Given the description of an element on the screen output the (x, y) to click on. 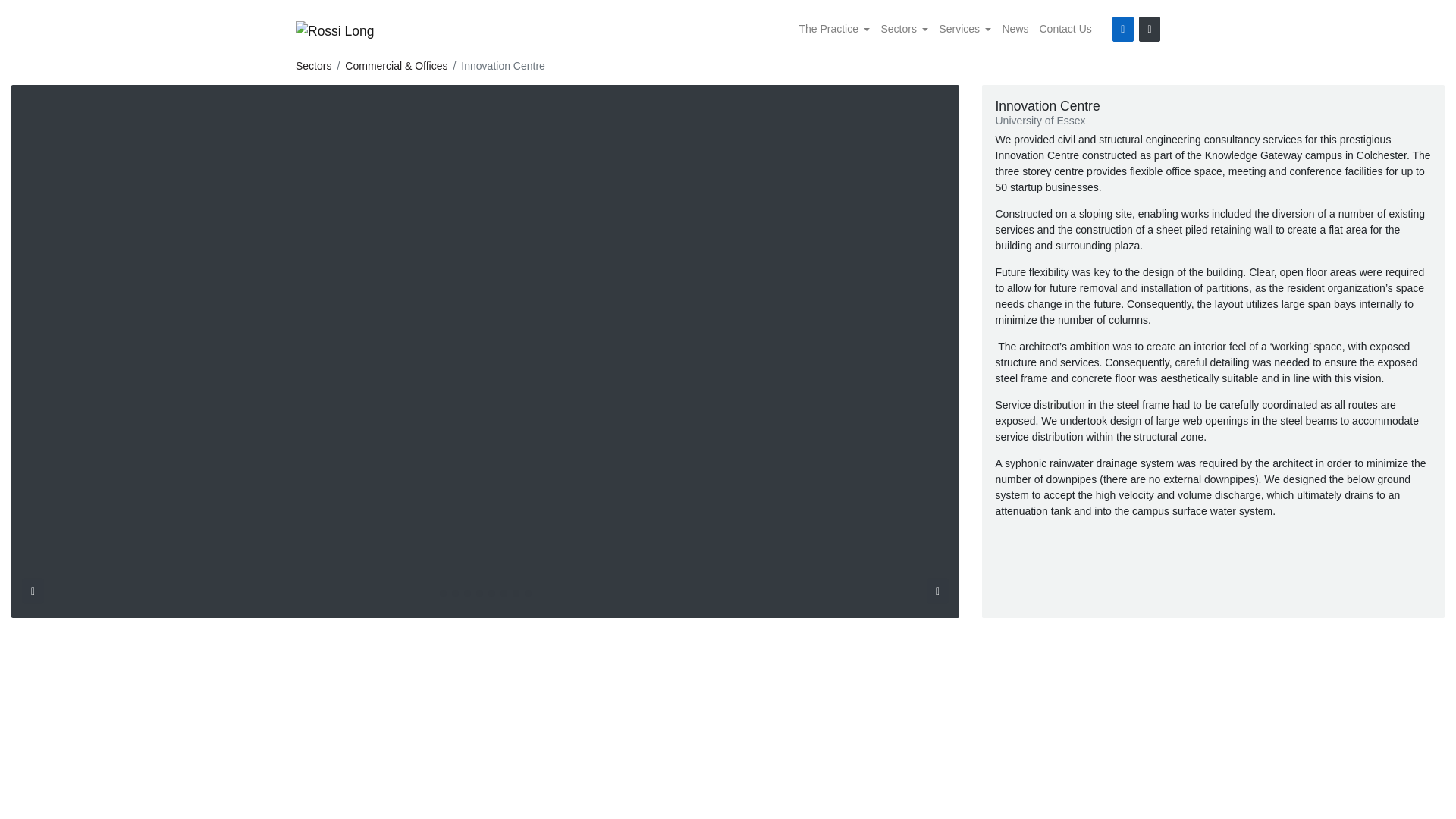
Sectors (904, 28)
The Practice (834, 28)
Services (964, 28)
